Given the description of an element on the screen output the (x, y) to click on. 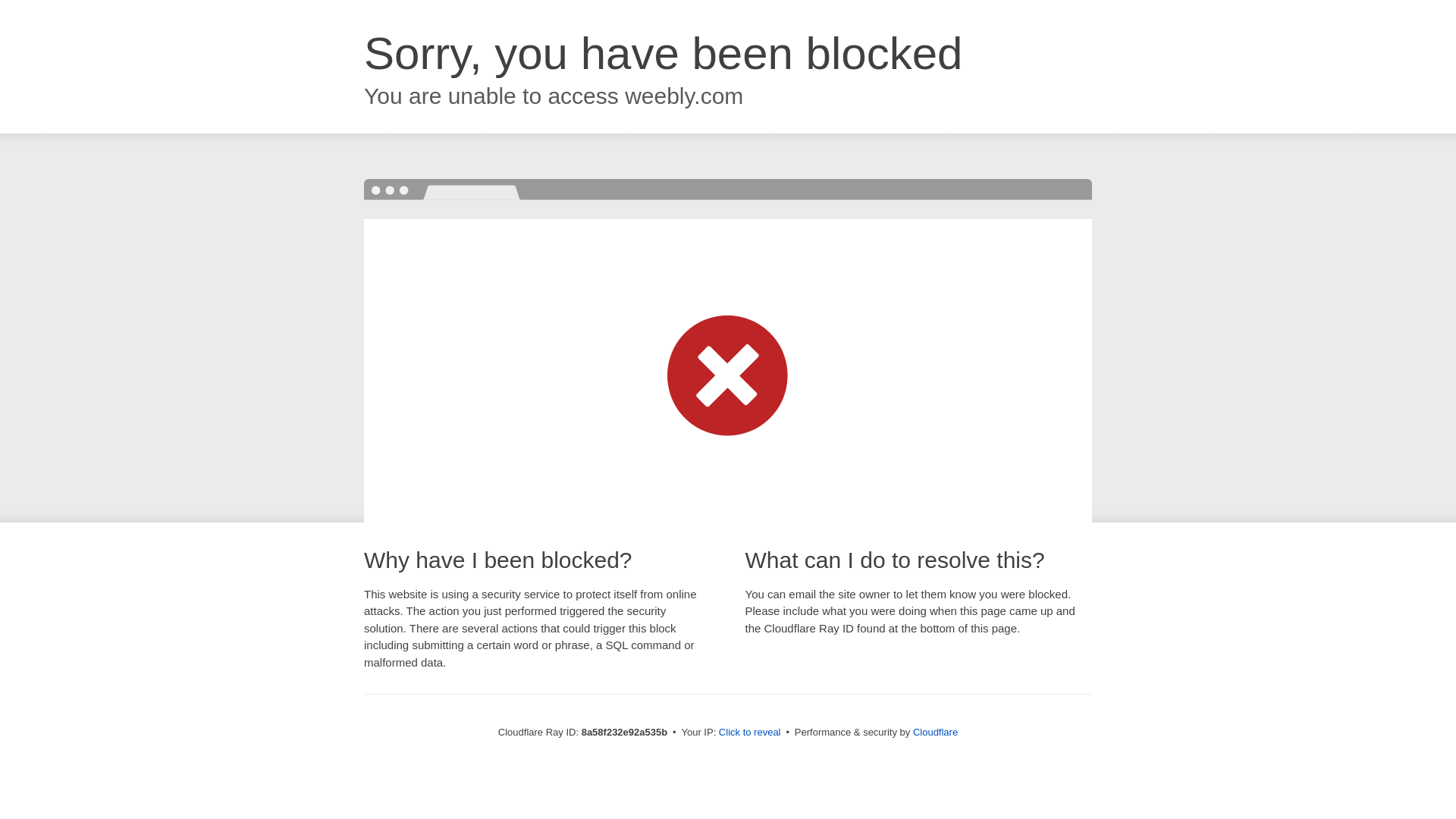
Click to reveal (749, 732)
Cloudflare (935, 731)
